Given the description of an element on the screen output the (x, y) to click on. 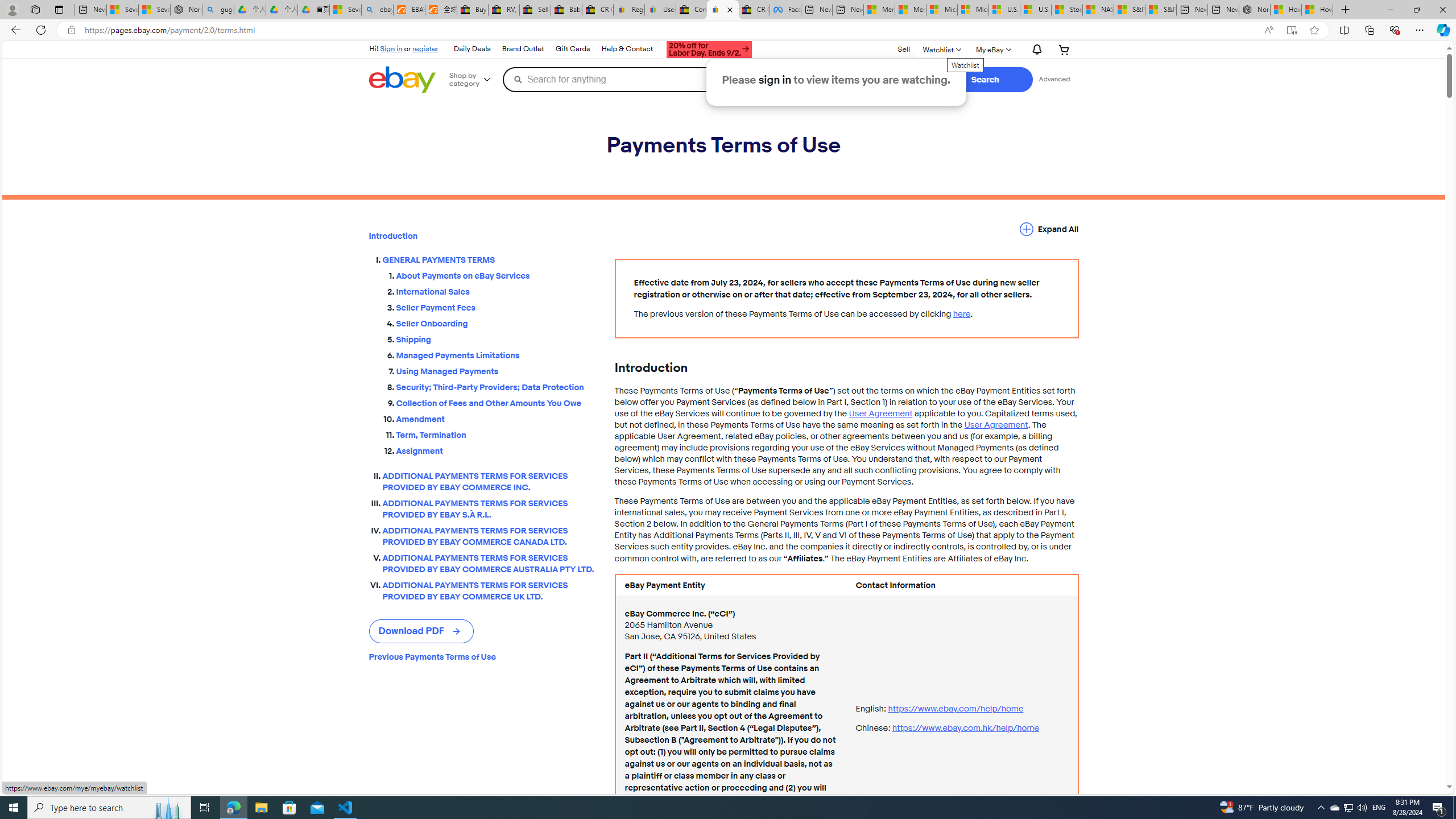
Collection of Fees and Other Amounts You Owe (496, 403)
register (425, 48)
Brand Outlet (521, 49)
Seller Onboarding (496, 323)
